Given the description of an element on the screen output the (x, y) to click on. 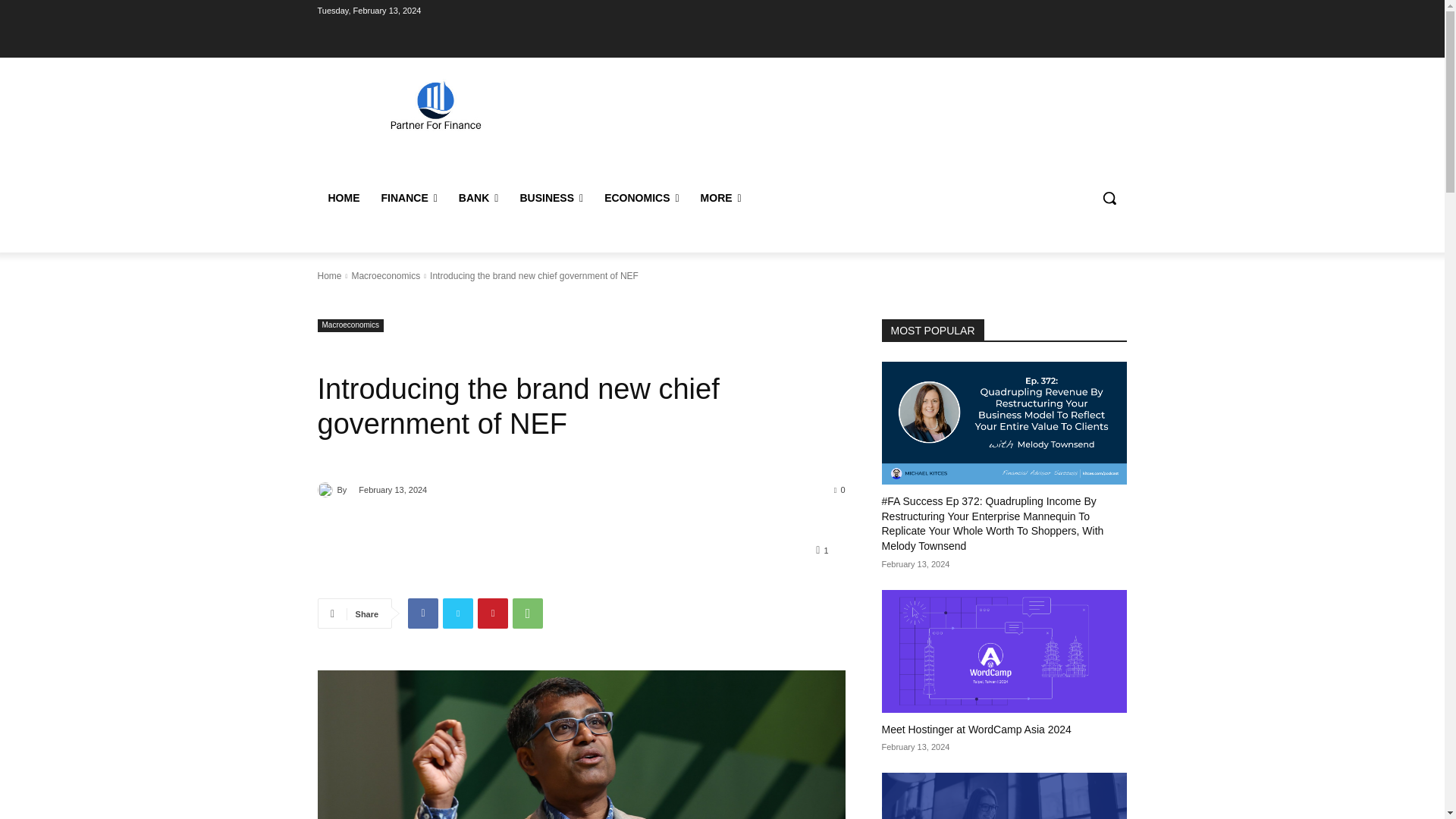
Facebook (422, 613)
FINANCE (407, 197)
Twitter (457, 613)
HOME (343, 197)
View all posts in Macroeconomics (385, 276)
WhatsApp (527, 613)
Pinterest (492, 613)
BANK (478, 197)
